Given the description of an element on the screen output the (x, y) to click on. 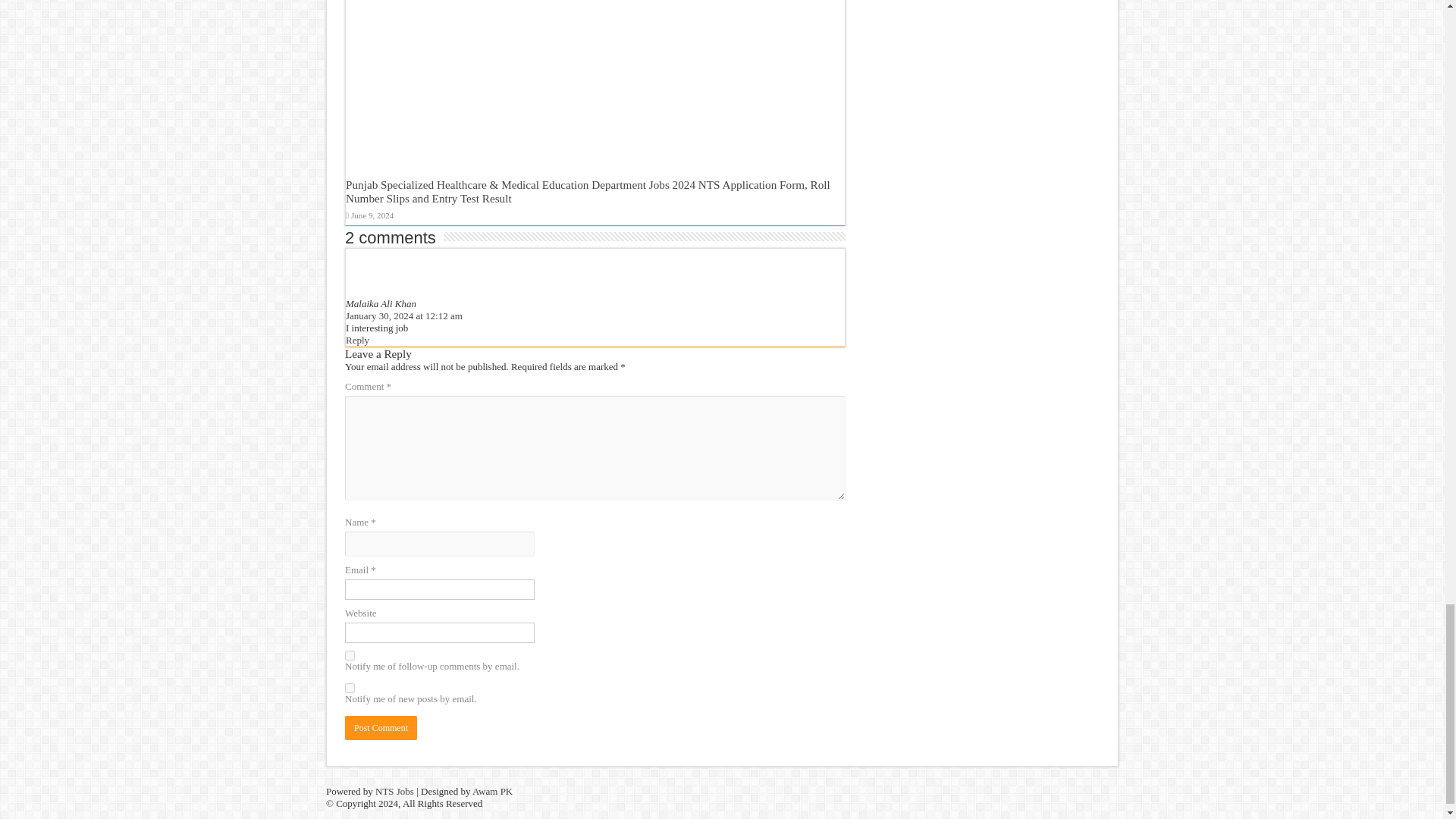
Post Comment (380, 727)
January 30, 2024 at 12:12 am (404, 315)
Reply (357, 339)
Post Comment (380, 727)
subscribe (350, 687)
subscribe (350, 655)
